Given the description of an element on the screen output the (x, y) to click on. 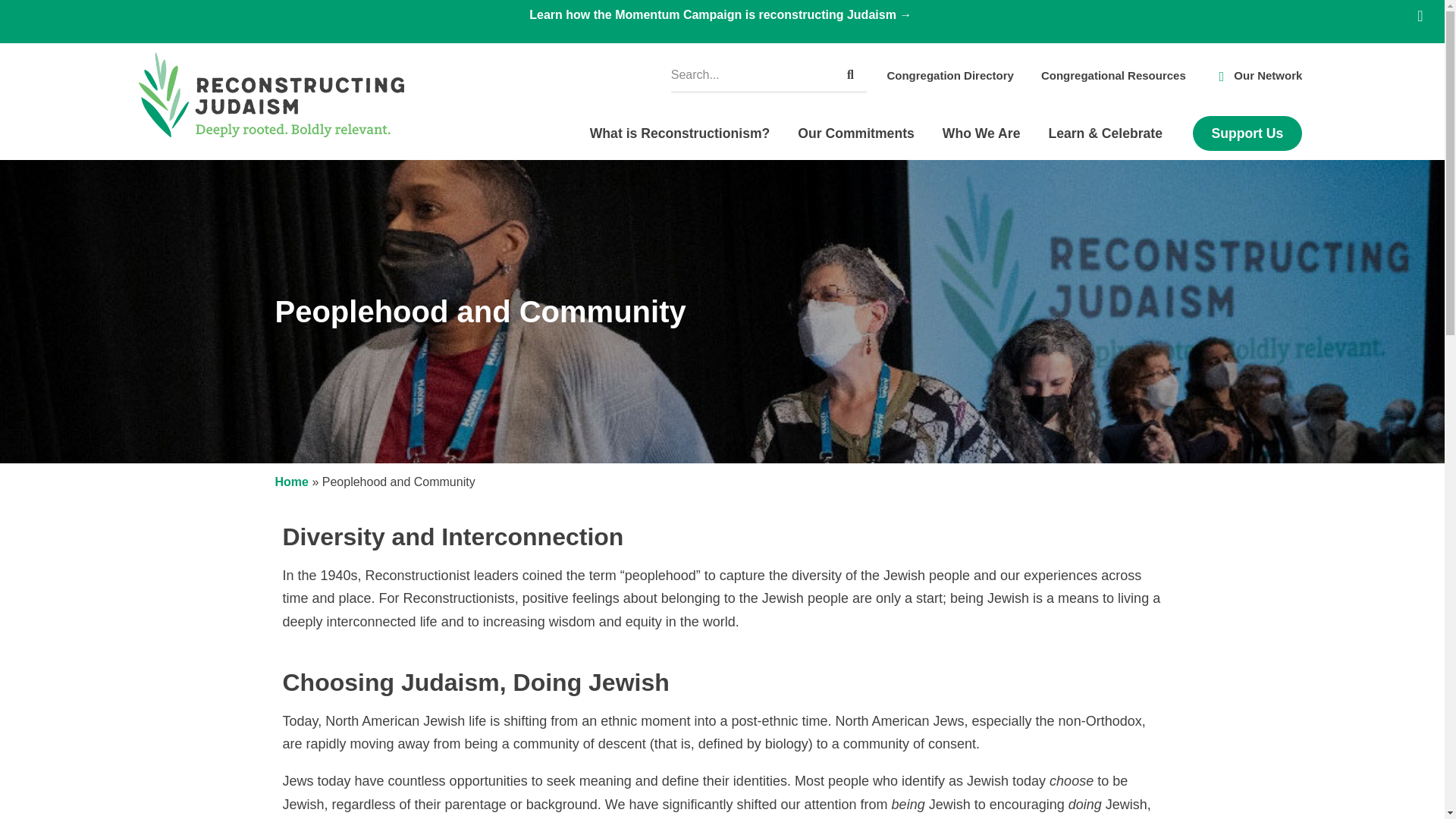
Search (752, 74)
Congregational Resources (1113, 75)
Who We Are (985, 133)
Our Network (1257, 75)
Home (291, 481)
What is Reconstructionism? (683, 133)
Our Commitments (859, 133)
Search (849, 74)
Congregation Directory (949, 75)
